Given the description of an element on the screen output the (x, y) to click on. 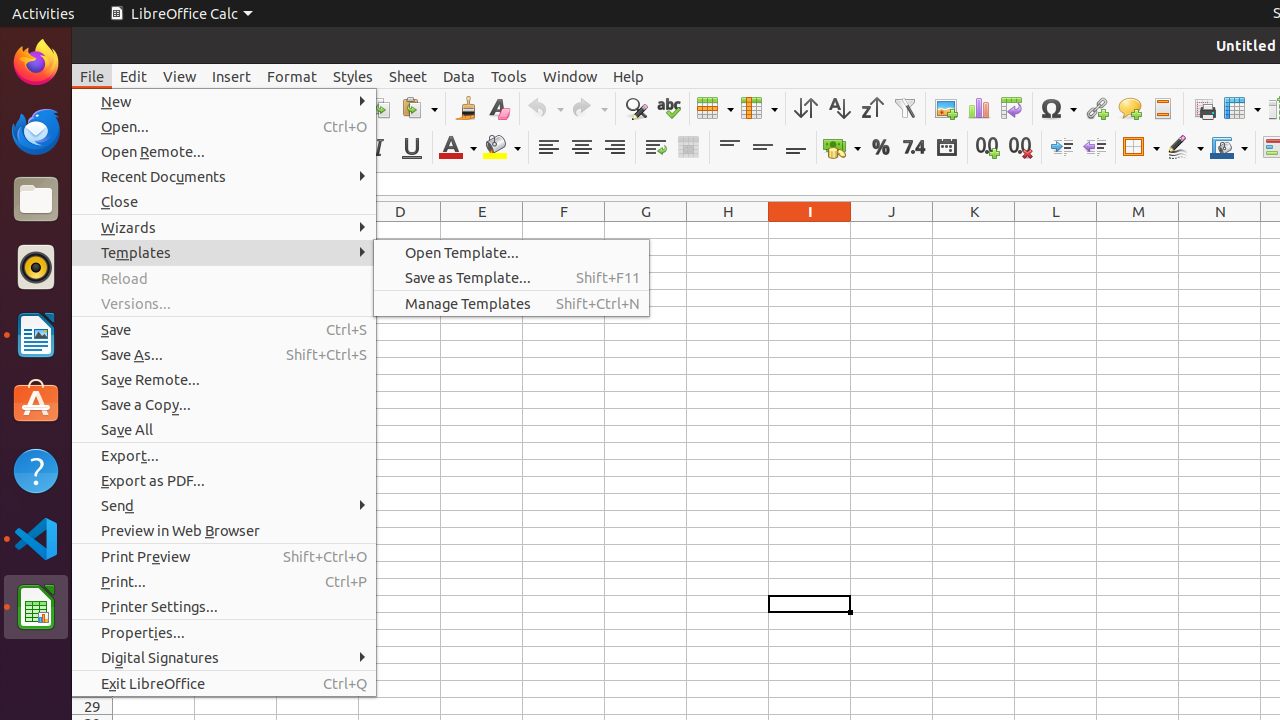
Sort Descending Element type: push-button (871, 108)
Activities Element type: label (43, 13)
Properties... Element type: menu-item (224, 632)
LibreOffice Calc Element type: menu (181, 13)
J1 Element type: table-cell (892, 230)
